Given the description of an element on the screen output the (x, y) to click on. 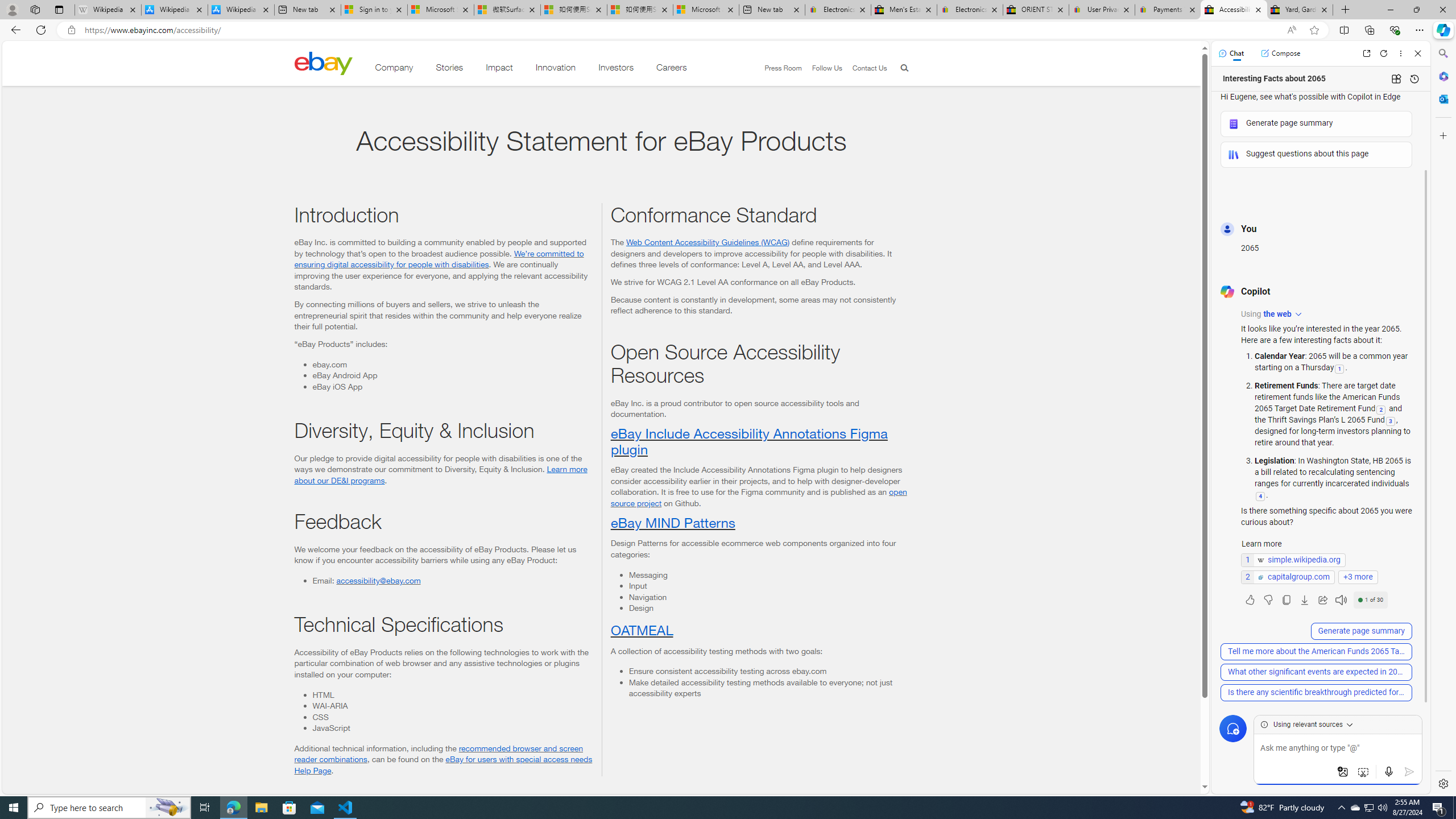
eBay Android App (451, 374)
open source project (758, 496)
Sign in to your Microsoft account (374, 9)
Company (393, 69)
Microsoft Services Agreement (441, 9)
Side bar (1443, 418)
Home (323, 63)
Stories (449, 69)
Design (768, 607)
Email: accessibility@ebay.com (451, 580)
Home (323, 63)
